Given the description of an element on the screen output the (x, y) to click on. 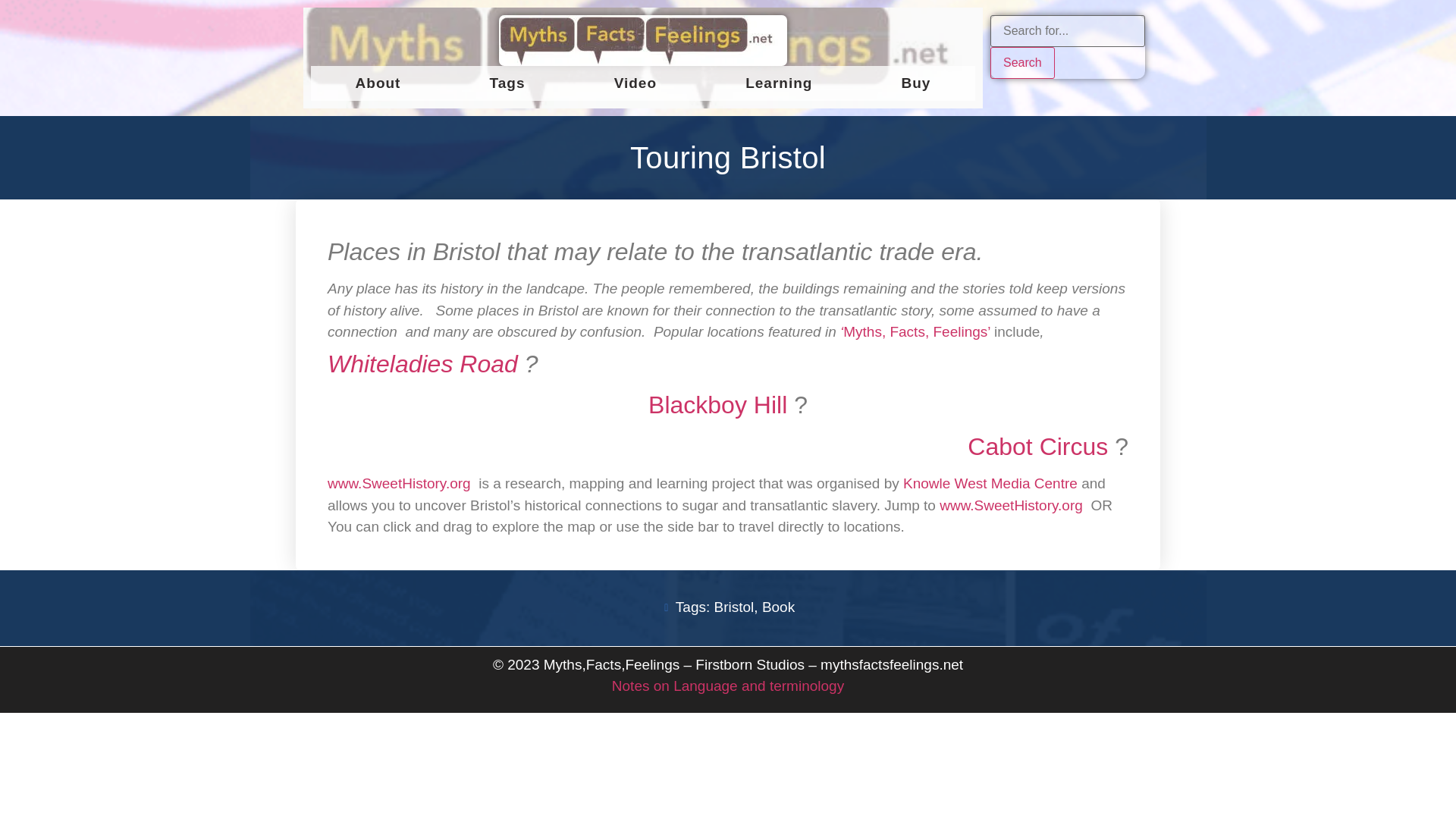
Cabot (1038, 446)
Sweet History (400, 483)
Order the Book (916, 331)
Tags (507, 83)
Buy (916, 83)
Search (1022, 62)
VincentBaidoo (717, 404)
About (378, 83)
go to Sweet History site (1011, 505)
Whiteladies (422, 363)
